Given the description of an element on the screen output the (x, y) to click on. 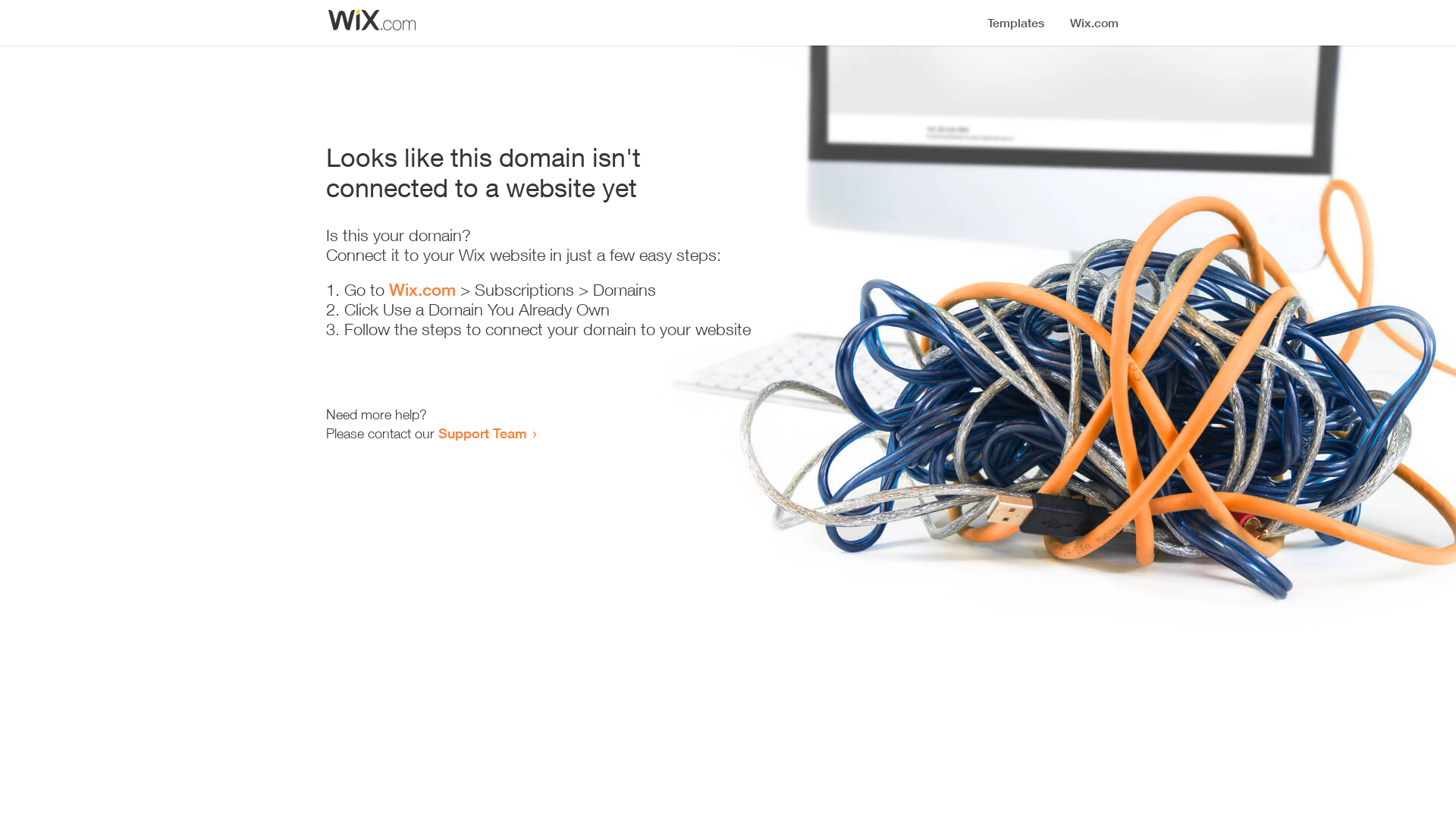
Support Team Element type: text (482, 432)
Wix.com Element type: text (422, 289)
